Given the description of an element on the screen output the (x, y) to click on. 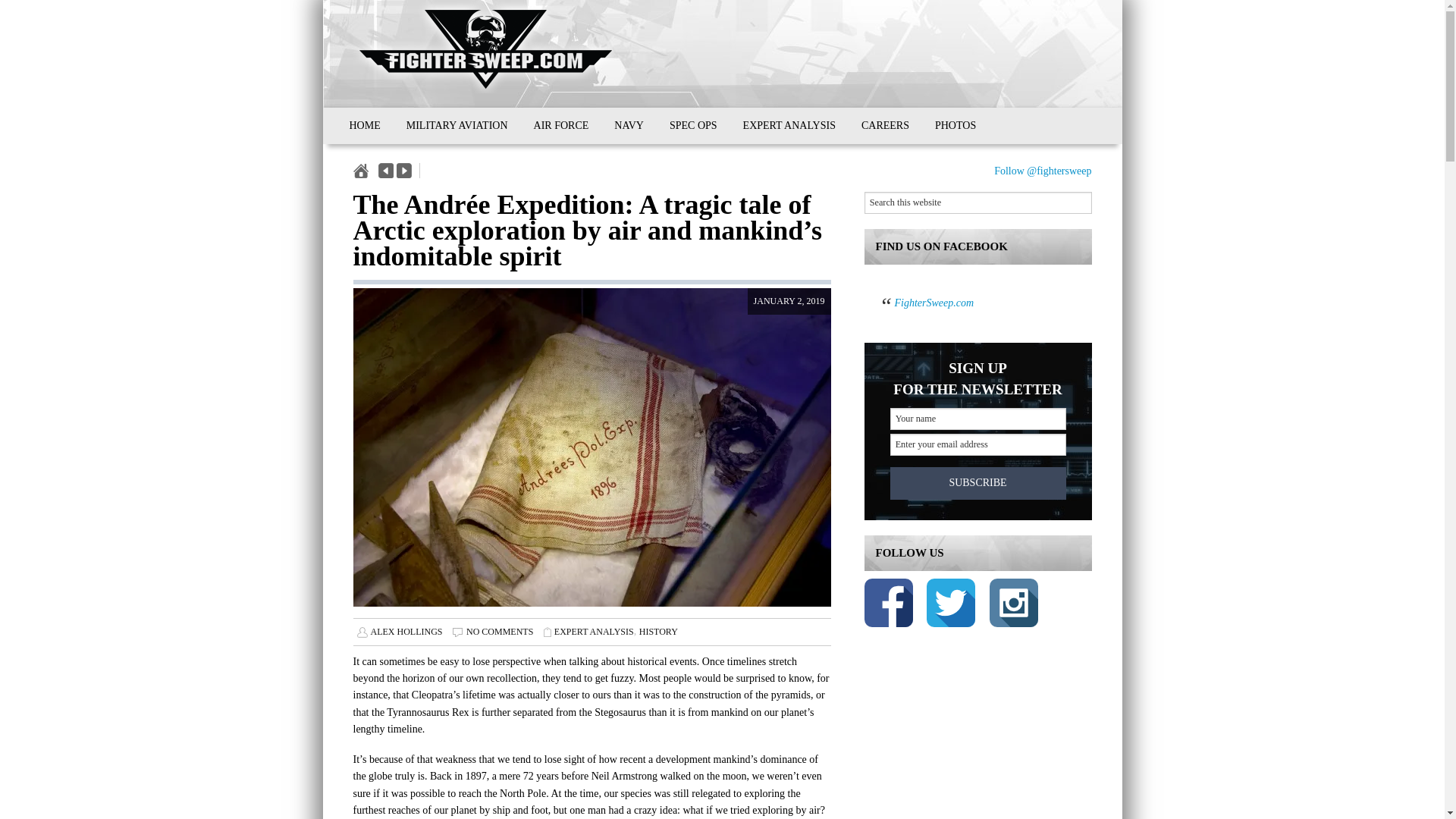
EXPERT ANALYSIS (593, 631)
HISTORY (658, 631)
CAREERS (885, 125)
AIR FORCE (560, 125)
ALEX HOLLINGS (405, 631)
HOME (364, 125)
SPEC OPS (693, 125)
FighterSweep.com (934, 302)
MILITARY AVIATION (456, 125)
